Given the description of an element on the screen output the (x, y) to click on. 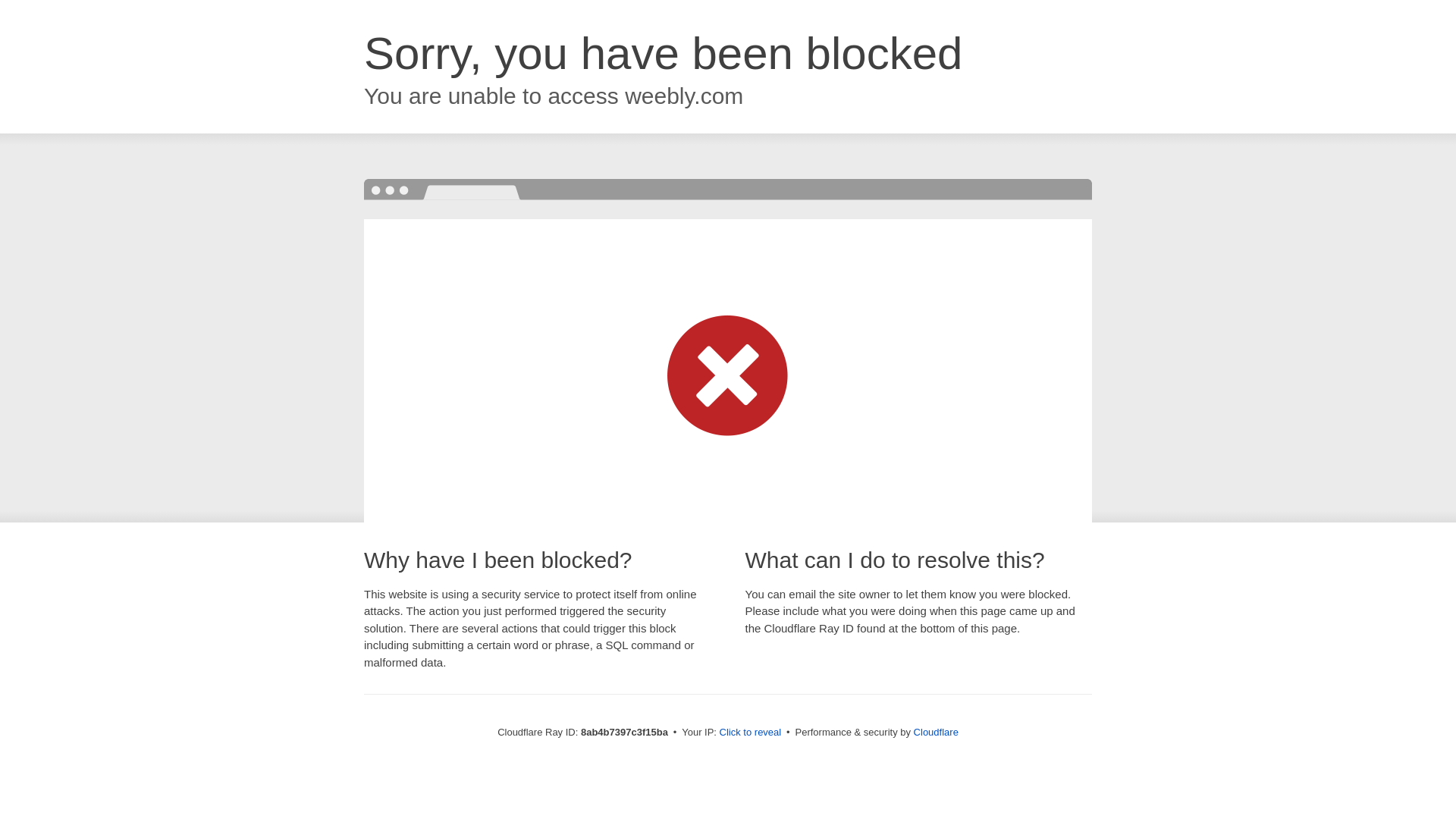
Cloudflare (936, 731)
Click to reveal (750, 732)
